Given the description of an element on the screen output the (x, y) to click on. 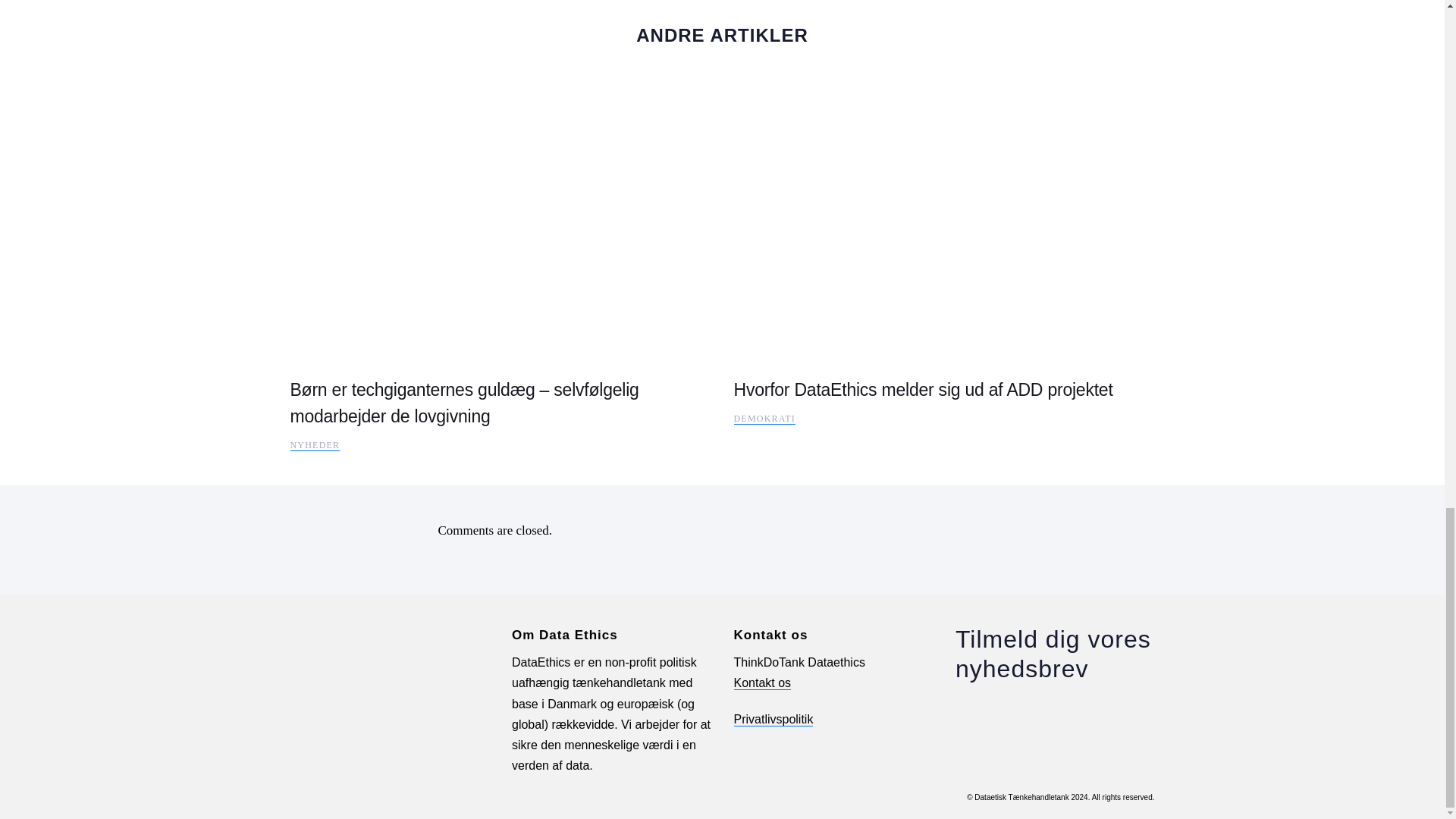
data-ethics-logo-updated (389, 640)
